Given the description of an element on the screen output the (x, y) to click on. 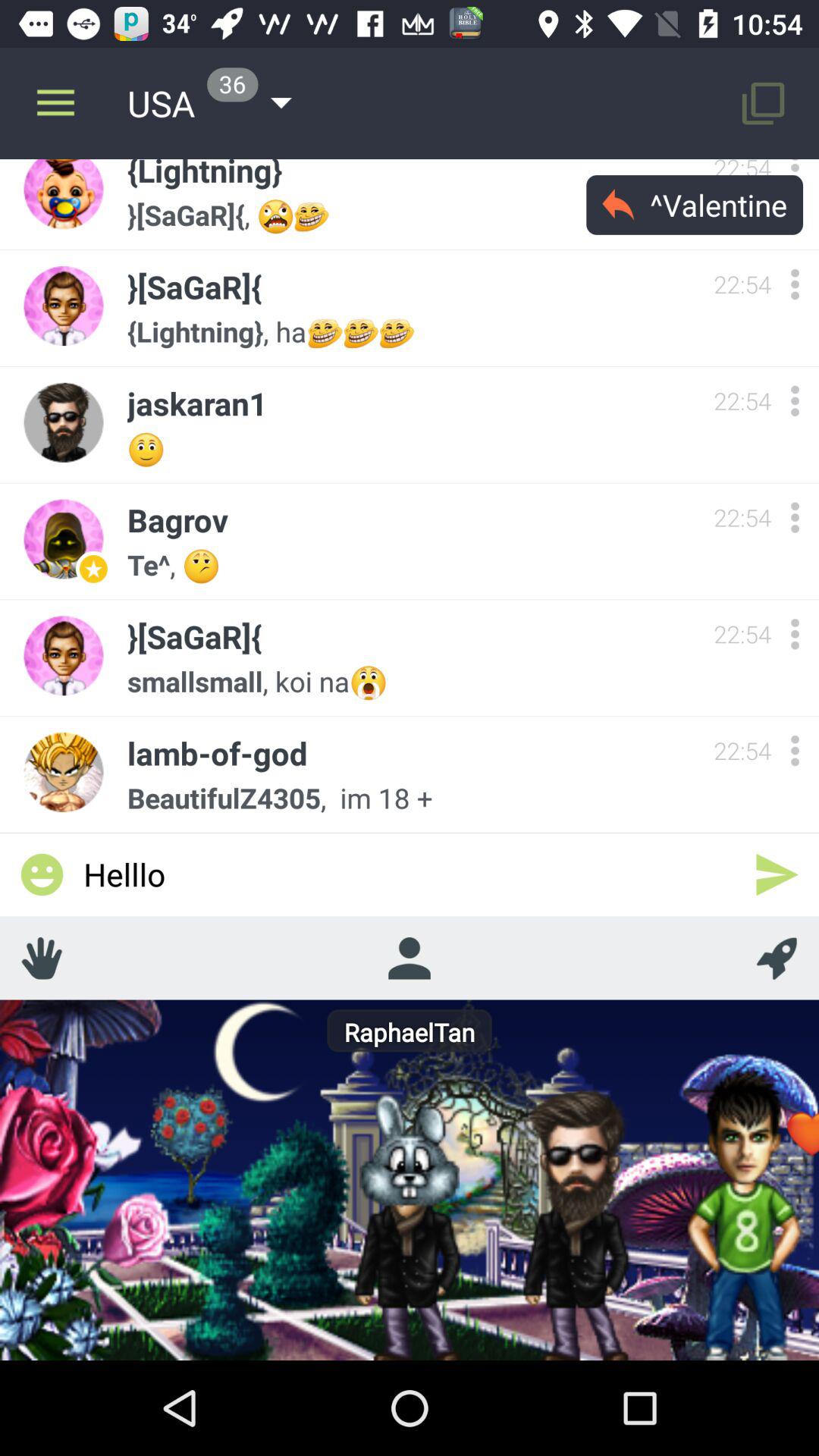
select the icon to the right of the helllo icon (777, 874)
